Given the description of an element on the screen output the (x, y) to click on. 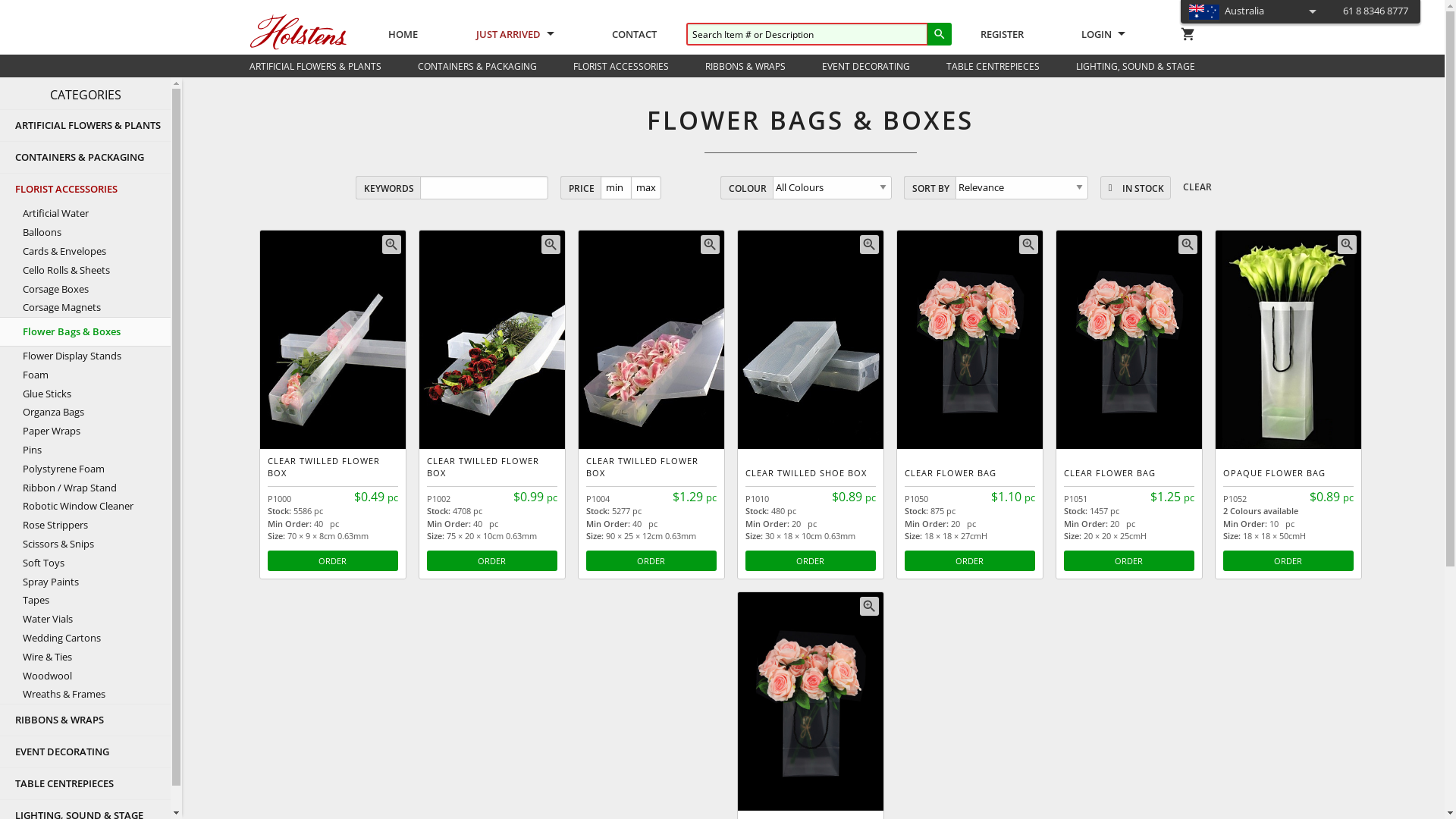
ORDER Element type: text (809, 560)
CONTACT Element type: text (634, 25)
Cello Rolls & Sheets Element type: text (85, 269)
ORDER Element type: text (491, 560)
Robotic Window Cleaner Element type: text (85, 505)
Wire & Ties Element type: text (85, 656)
Corsage Magnets Element type: text (85, 307)
Artificial Water Element type: text (85, 212)
LOGIN Element type: text (1103, 33)
Balloons Element type: text (85, 231)
REGISTER Element type: text (1001, 25)
Ribbon / Wrap Stand Element type: text (85, 487)
Wreaths & Frames Element type: text (85, 693)
HOME Element type: text (402, 25)
ORDER Element type: text (968, 560)
ORDER Element type: text (331, 560)
Rose Strippers Element type: text (85, 524)
Scissors & Snips Element type: text (85, 543)
ORDER Element type: text (650, 560)
Flower Bags & Boxes Element type: text (85, 331)
Glue Sticks Element type: text (85, 393)
Spray Paints Element type: text (85, 581)
ORDER Element type: text (1128, 560)
Flower Display Stands Element type: text (85, 355)
Corsage Boxes Element type: text (85, 288)
Wedding Cartons Element type: text (85, 637)
Woodwool Element type: text (85, 675)
ORDER Element type: text (1287, 560)
Holstens Element type: hover (297, 31)
Soft Toys Element type: text (85, 562)
Cards & Envelopes Element type: text (85, 250)
search Element type: text (939, 33)
Tapes Element type: text (85, 599)
Paper Wraps Element type: text (85, 430)
Organza Bags Element type: text (85, 411)
CLEAR Element type: text (1197, 187)
Water Vials Element type: text (85, 618)
shopping_cart Element type: text (1187, 33)
JUST ARRIVED Element type: text (515, 33)
Polystyrene Foam Element type: text (85, 468)
Pins Element type: text (85, 449)
Foam Element type: text (85, 374)
